Given the description of an element on the screen output the (x, y) to click on. 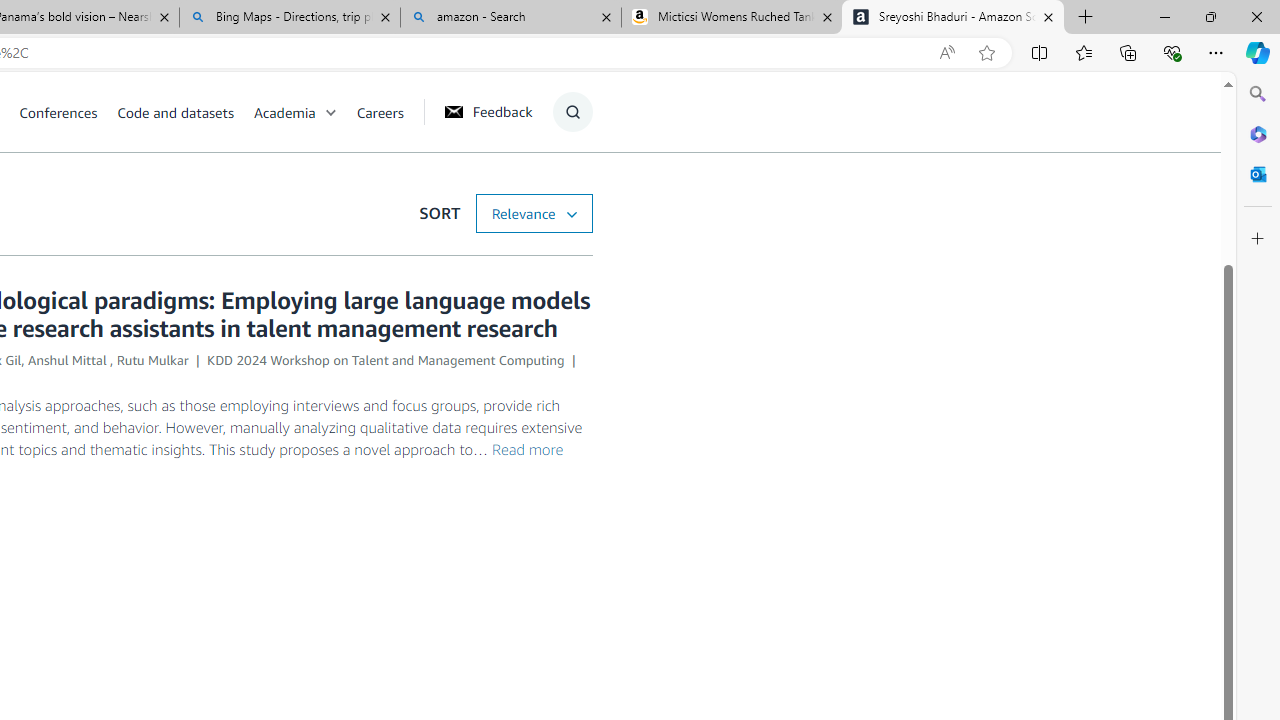
Code and datasets (184, 111)
Conferences (68, 111)
Submit Search (565, 191)
KDD 2024 Workshop on Talent and Management Computing (385, 360)
Careers (389, 111)
amazon - Search (510, 17)
